Given the description of an element on the screen output the (x, y) to click on. 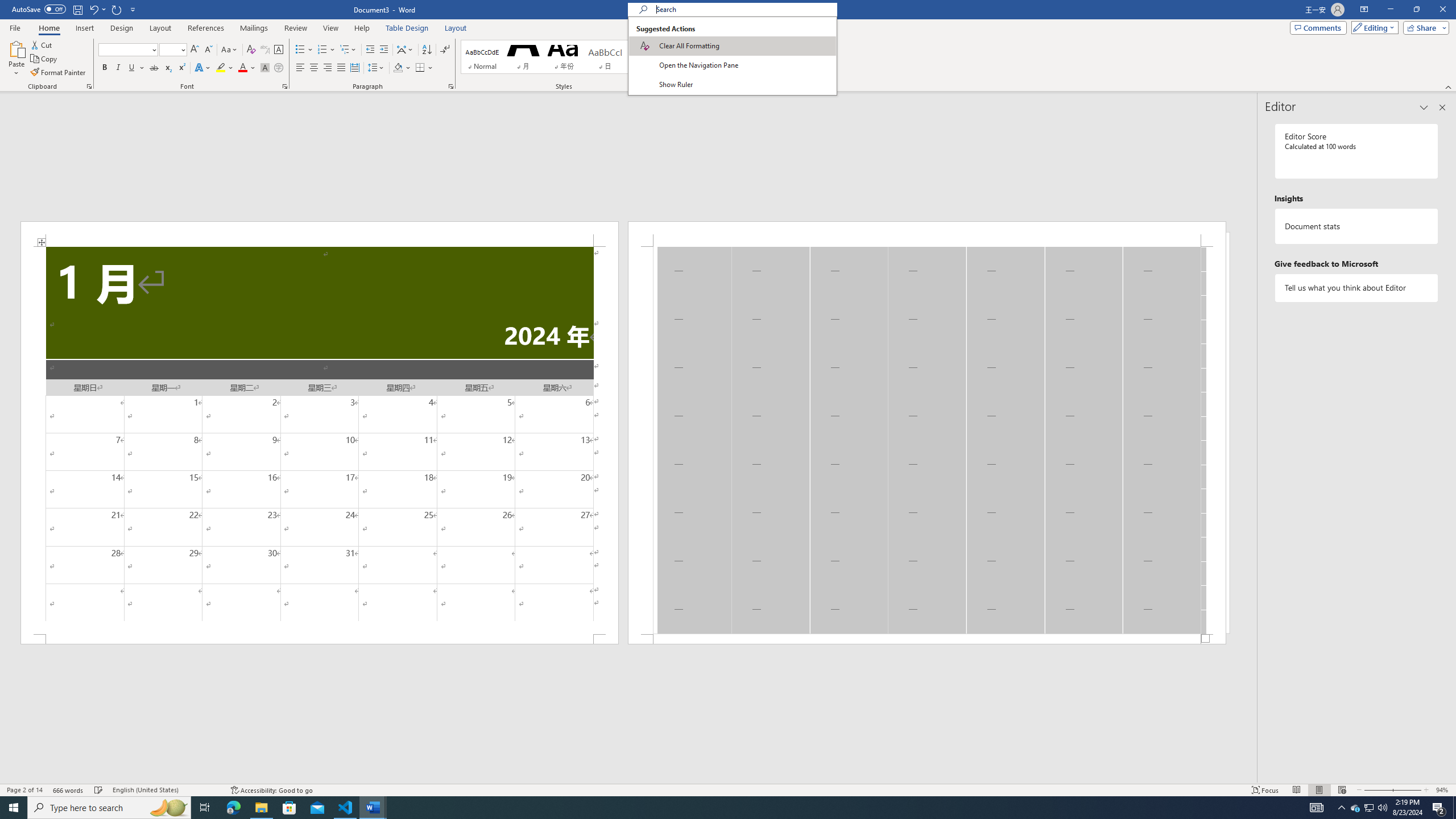
AutomationID: QuickStylesGallery (568, 56)
Paste (16, 48)
Footer -Section 1- (926, 638)
Sort... (426, 49)
Borders (419, 67)
Collapse the Ribbon (1448, 86)
Focus  (1265, 790)
Read Mode (1296, 790)
Bold (104, 67)
Open (182, 49)
Comments (1318, 27)
Superscript (180, 67)
